Given the description of an element on the screen output the (x, y) to click on. 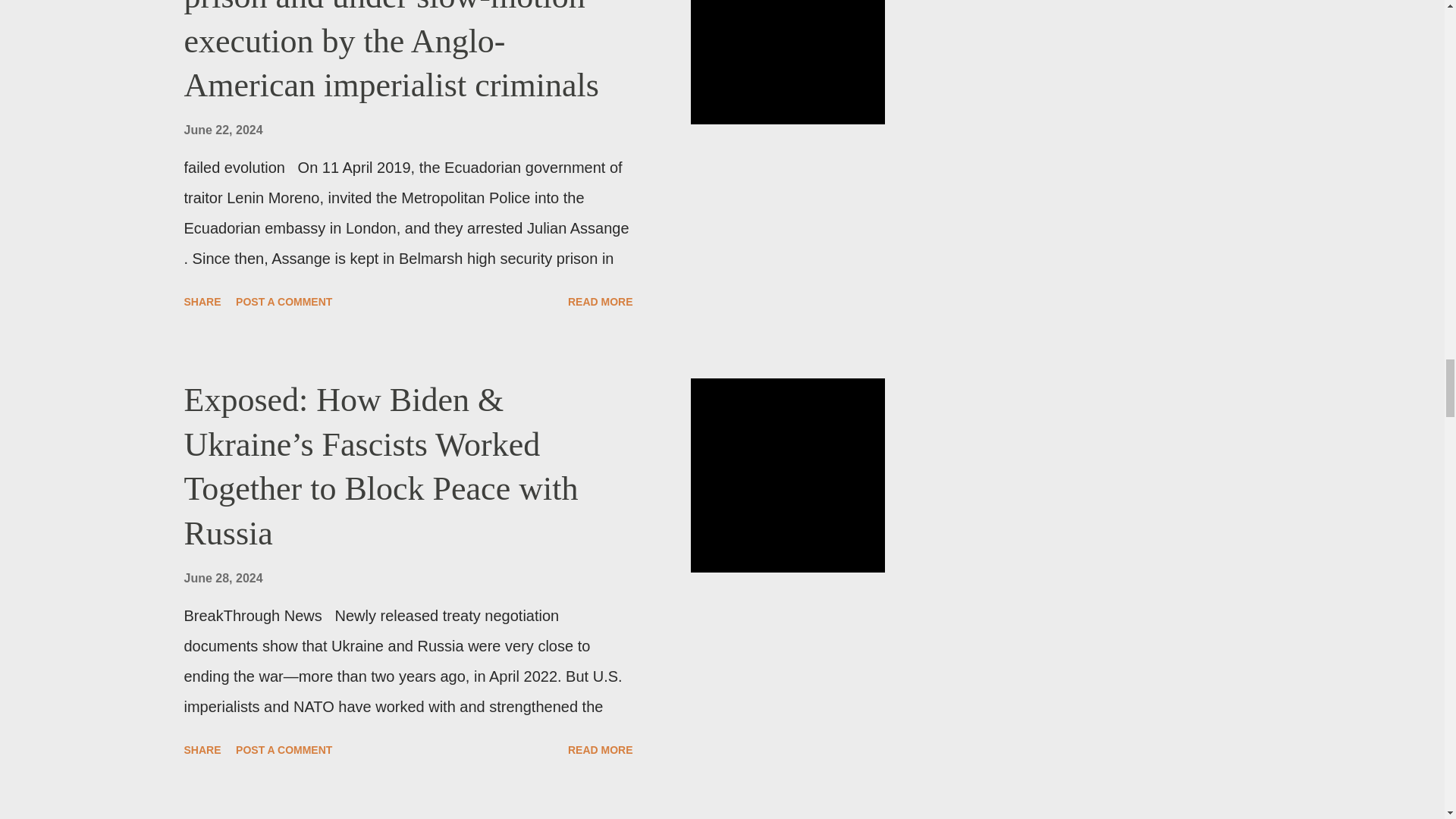
June 28, 2024 (222, 577)
June 22, 2024 (222, 129)
POST A COMMENT (283, 301)
SHARE (202, 301)
SHARE (202, 749)
READ MORE (600, 301)
